Given the description of an element on the screen output the (x, y) to click on. 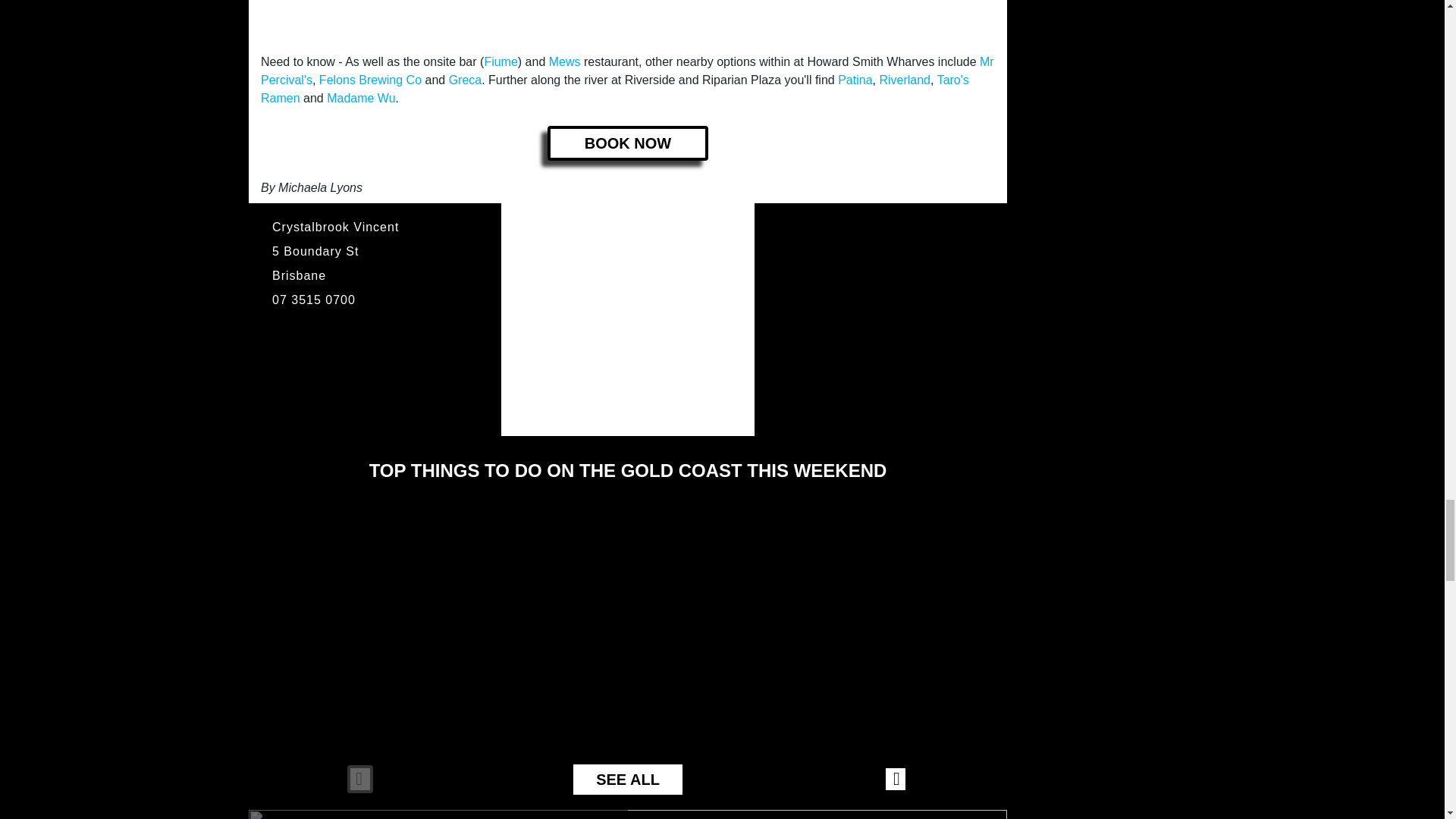
Crystalbrook Vincent Brisbane (627, 20)
